Given the description of an element on the screen output the (x, y) to click on. 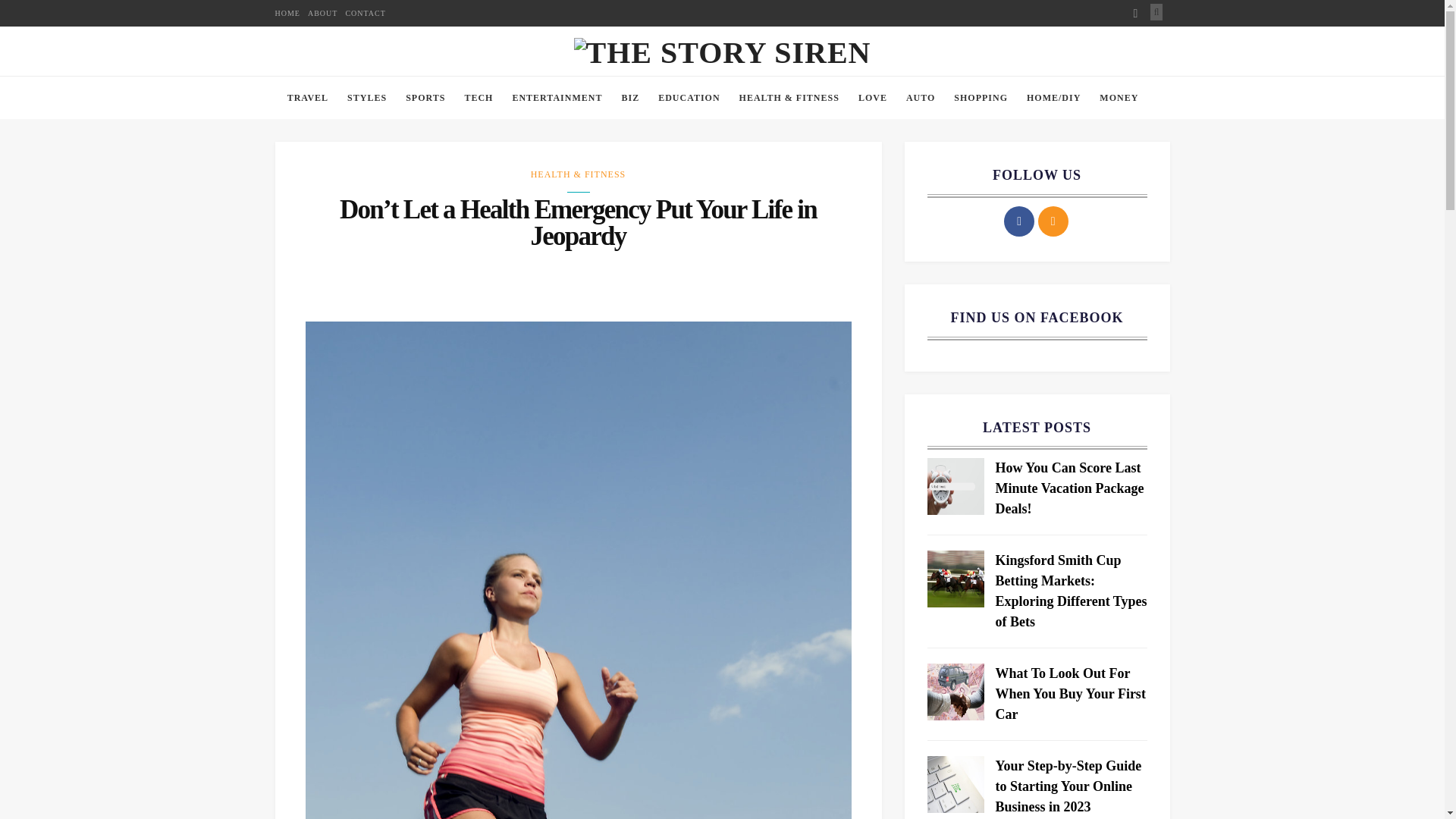
ABOUT (322, 13)
TRAVEL (307, 97)
CONTACT (365, 13)
HOME (287, 13)
